Given the description of an element on the screen output the (x, y) to click on. 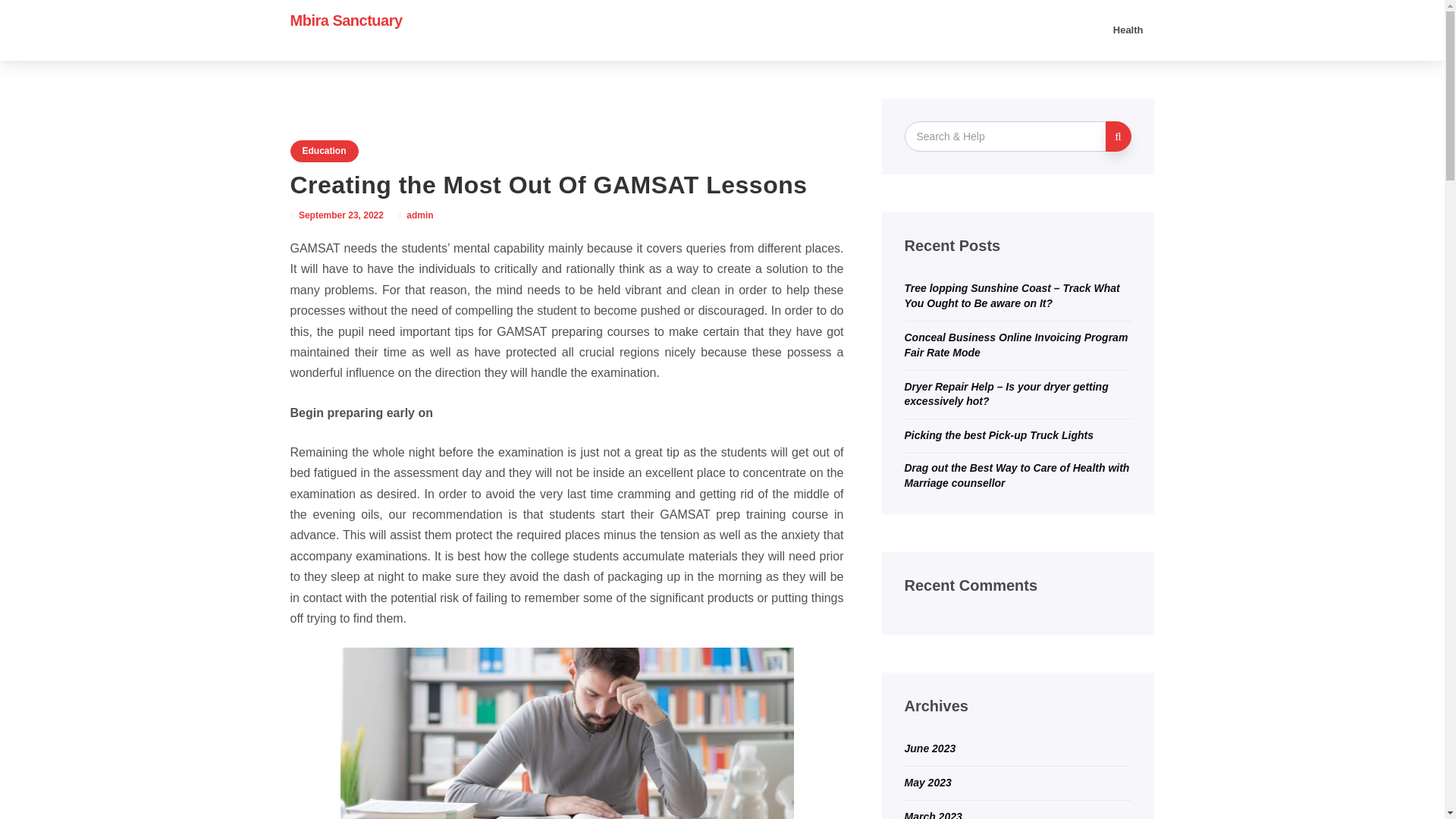
Mbira Sanctuary (345, 20)
Picking the best Pick-up Truck Lights (998, 435)
Conceal Business Online Invoicing Program Fair Rate Mode (1015, 344)
Search for: (1005, 136)
June 2023 (929, 748)
March 2023 (932, 814)
Education (323, 151)
Posts by admin (419, 214)
admin (419, 214)
May 2023 (927, 782)
